Given the description of an element on the screen output the (x, y) to click on. 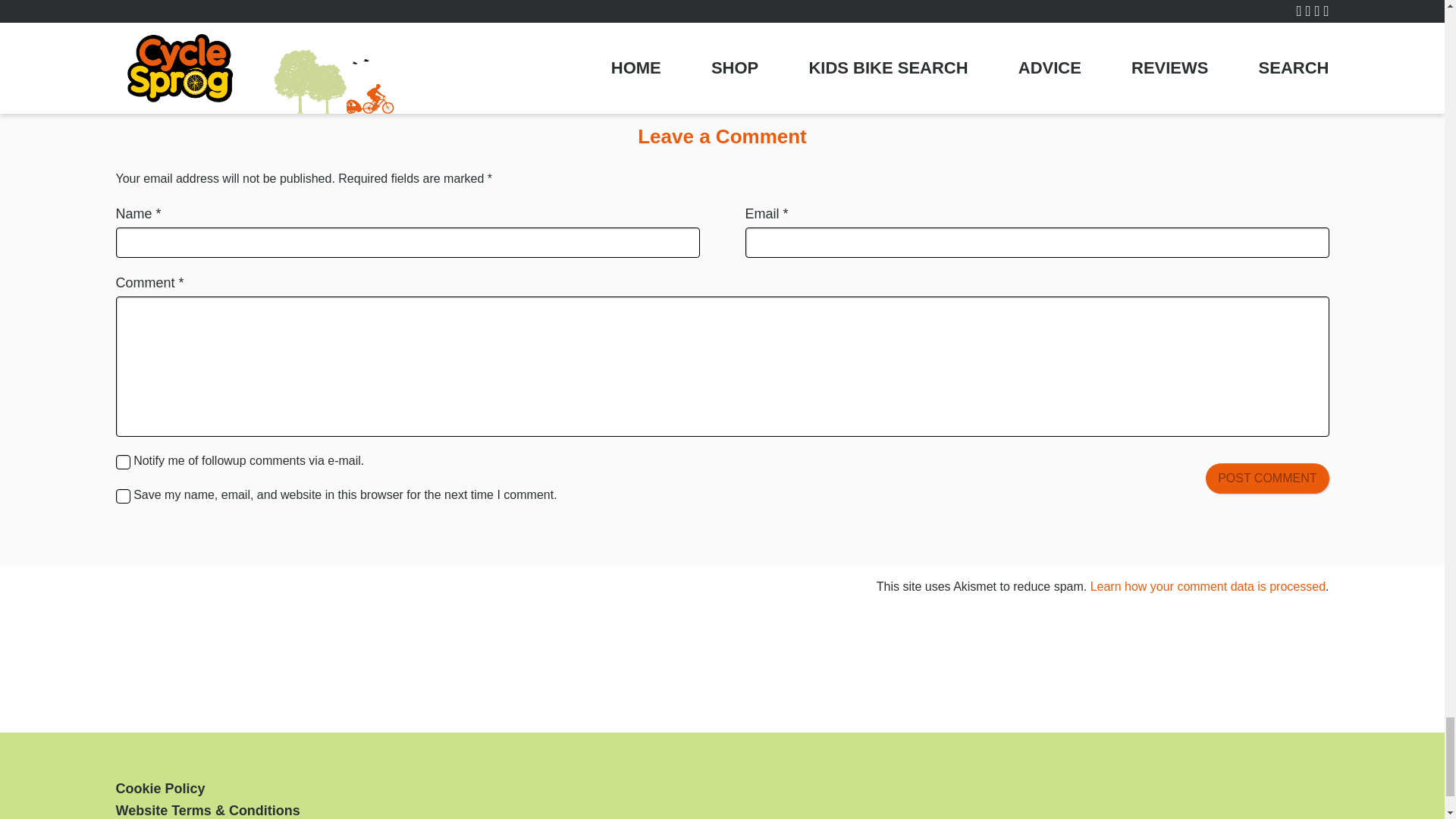
yes (122, 495)
replies (122, 462)
Post Comment (1266, 478)
